Given the description of an element on the screen output the (x, y) to click on. 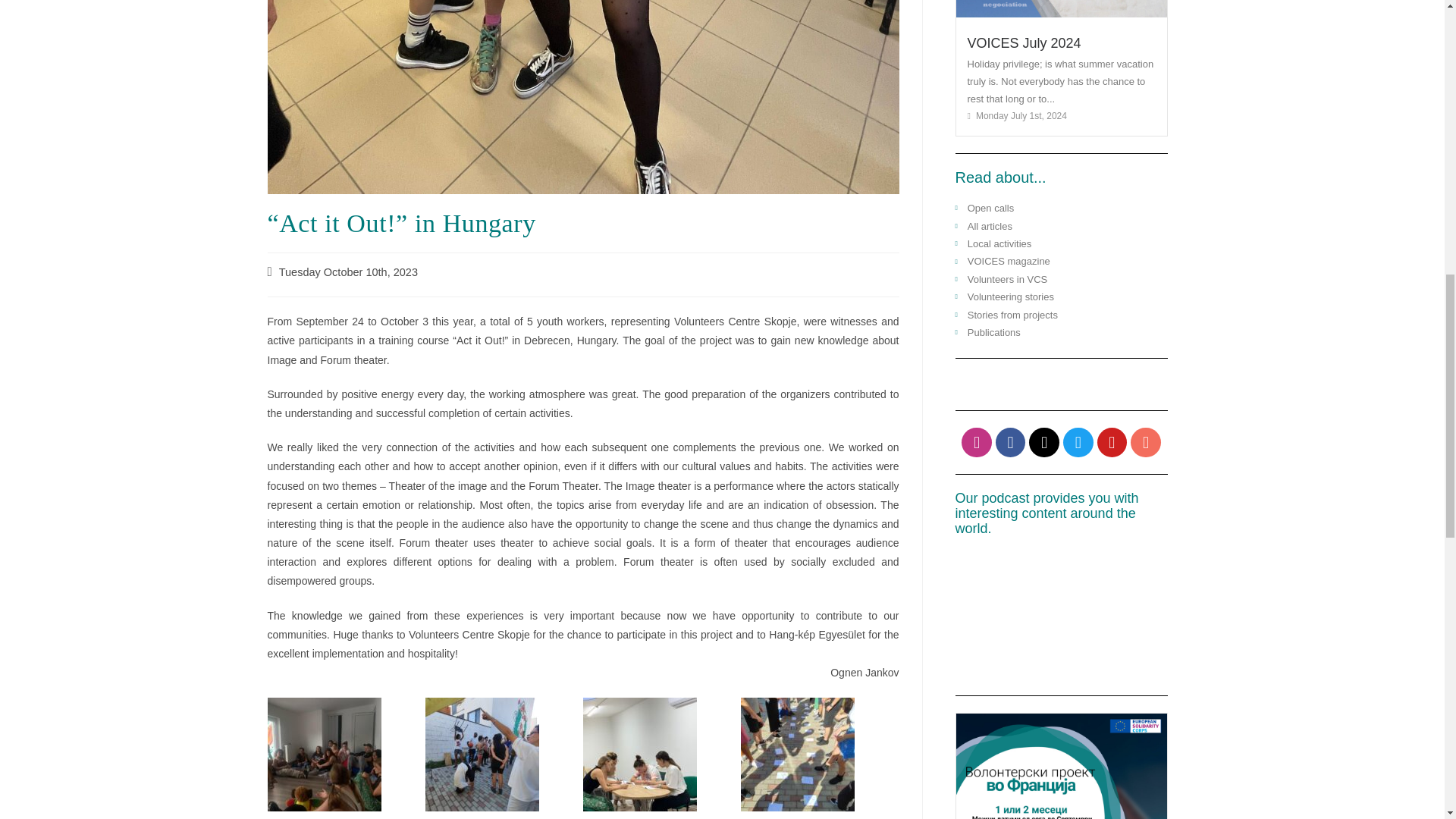
Spotify Embed: VOICES to Hear (1061, 616)
VOICES July 2024 (1024, 43)
